Given the description of an element on the screen output the (x, y) to click on. 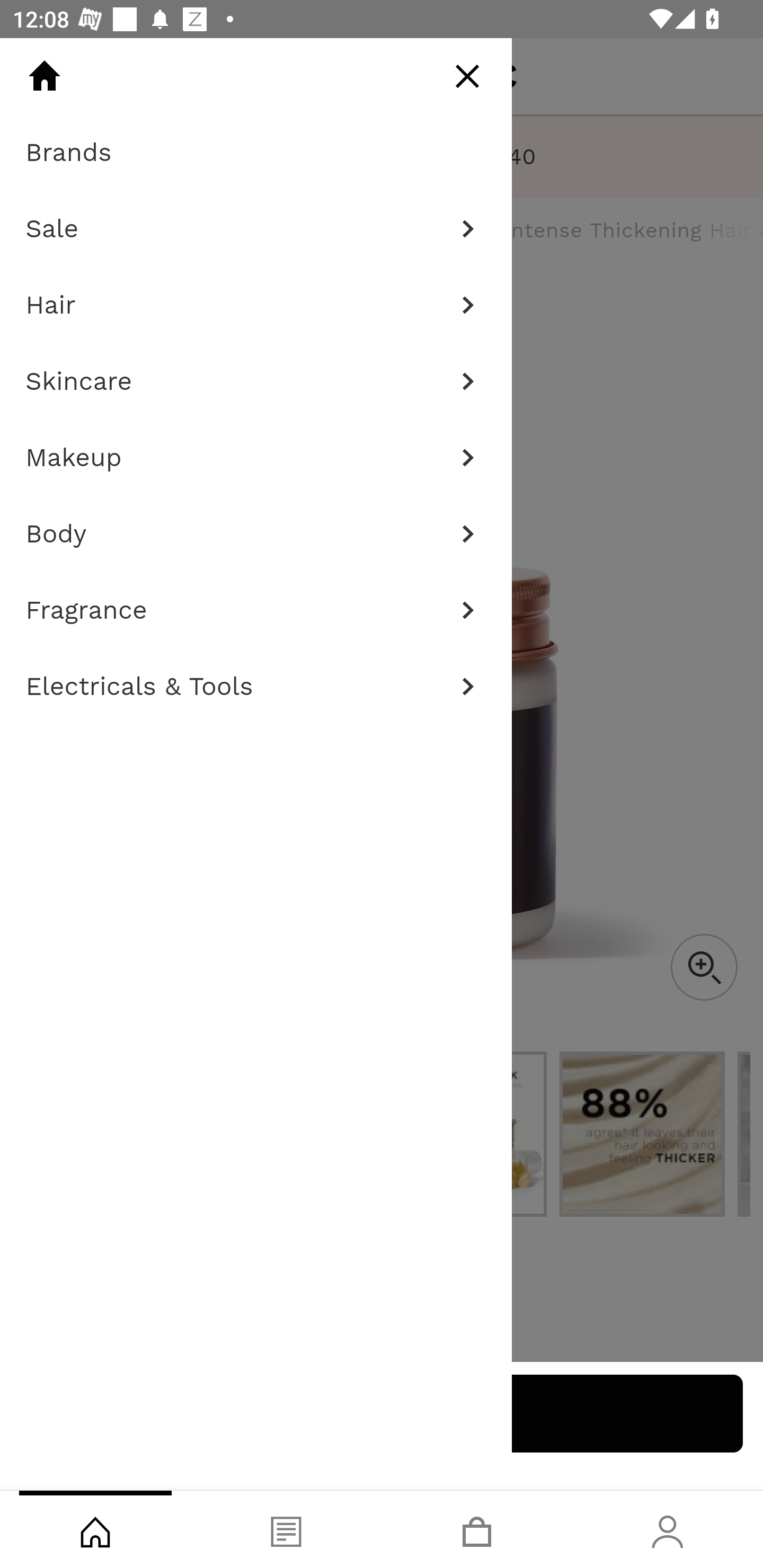
Home (44, 75)
Close Menu (467, 75)
Brands (255, 152)
Sale (255, 228)
Hair (255, 304)
Skincare (255, 381)
Makeup (255, 457)
Body (255, 533)
Fragrance (255, 610)
Electricals & Tools (255, 686)
Shop, tab, 1 of 4 (95, 1529)
Blog, tab, 2 of 4 (285, 1529)
Basket, tab, 3 of 4 (476, 1529)
Account, tab, 4 of 4 (667, 1529)
